Given the description of an element on the screen output the (x, y) to click on. 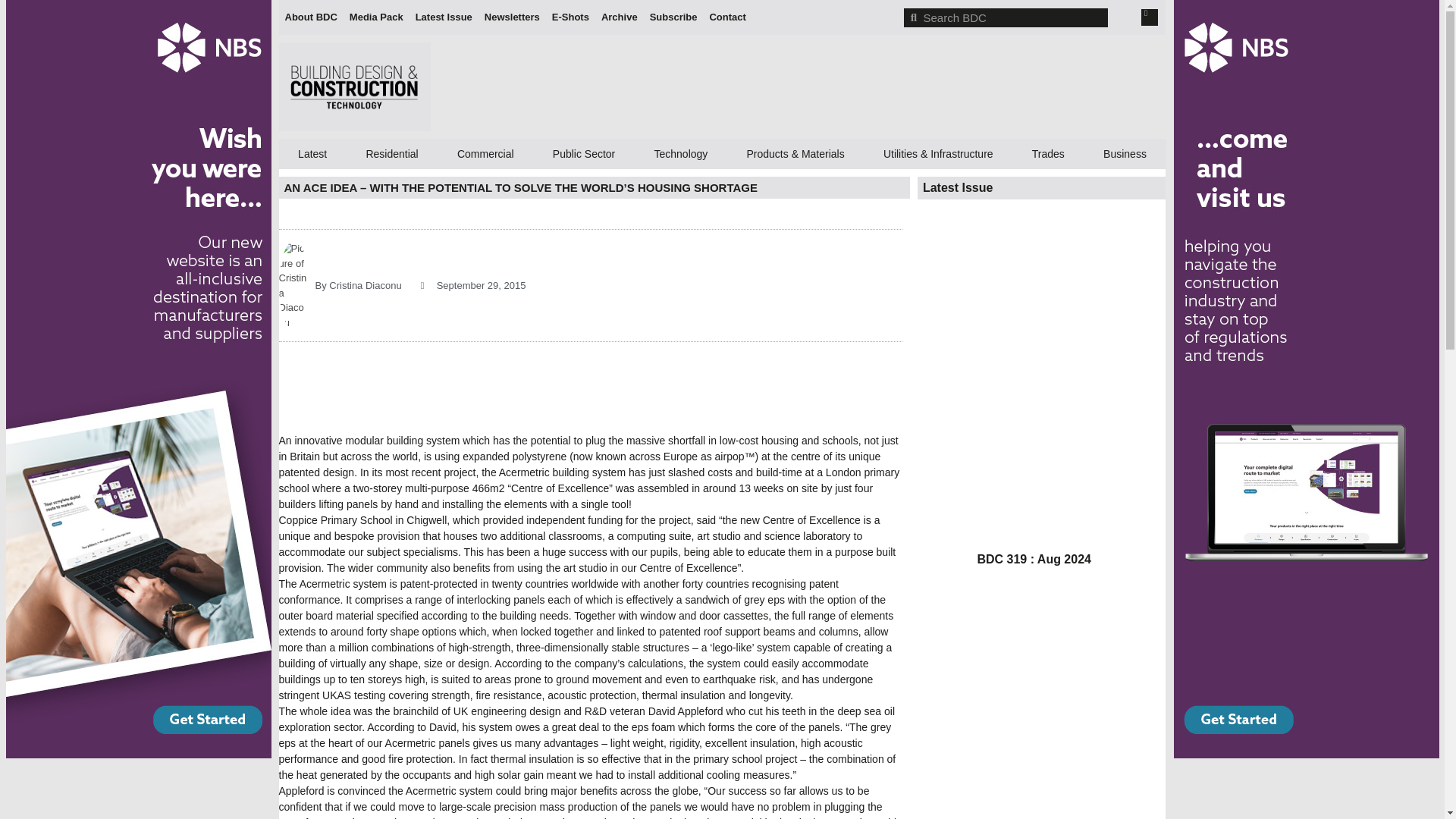
Residential (392, 153)
Subscribe (673, 17)
Media Pack (376, 17)
About BDC (311, 17)
Latest (312, 153)
Contact (727, 17)
Archive (619, 17)
Newsletters (512, 17)
Latest Issue (444, 17)
E-Shots (570, 17)
